Given the description of an element on the screen output the (x, y) to click on. 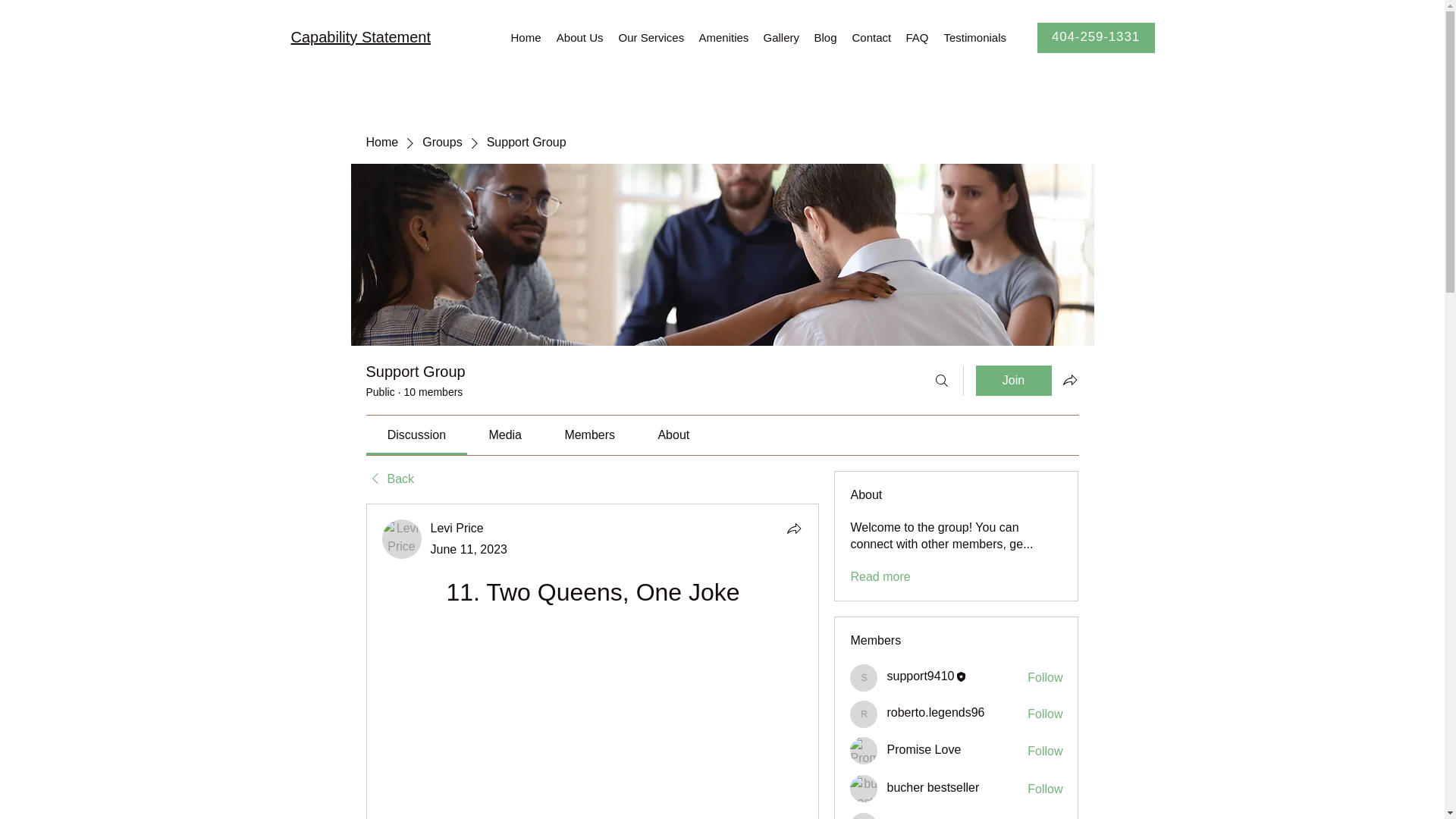
bucher bestseller (863, 788)
Our Services (651, 37)
support9410 (863, 677)
Read more (880, 576)
Contact (871, 37)
Join (1013, 380)
About Us (579, 37)
roberto.legends96 (935, 712)
Follow (1044, 713)
Follow (1044, 751)
